Given the description of an element on the screen output the (x, y) to click on. 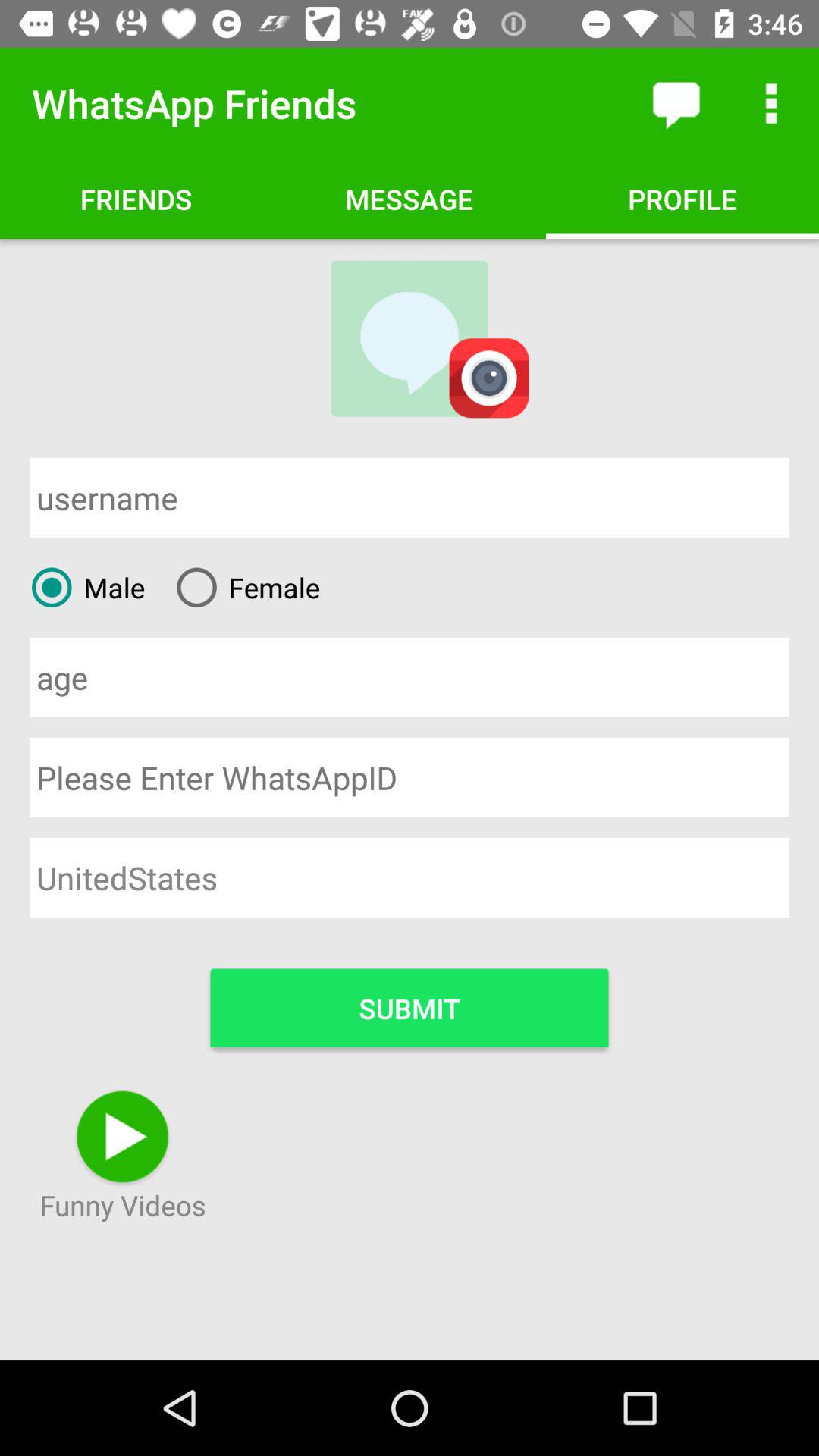
username text field (409, 497)
